Given the description of an element on the screen output the (x, y) to click on. 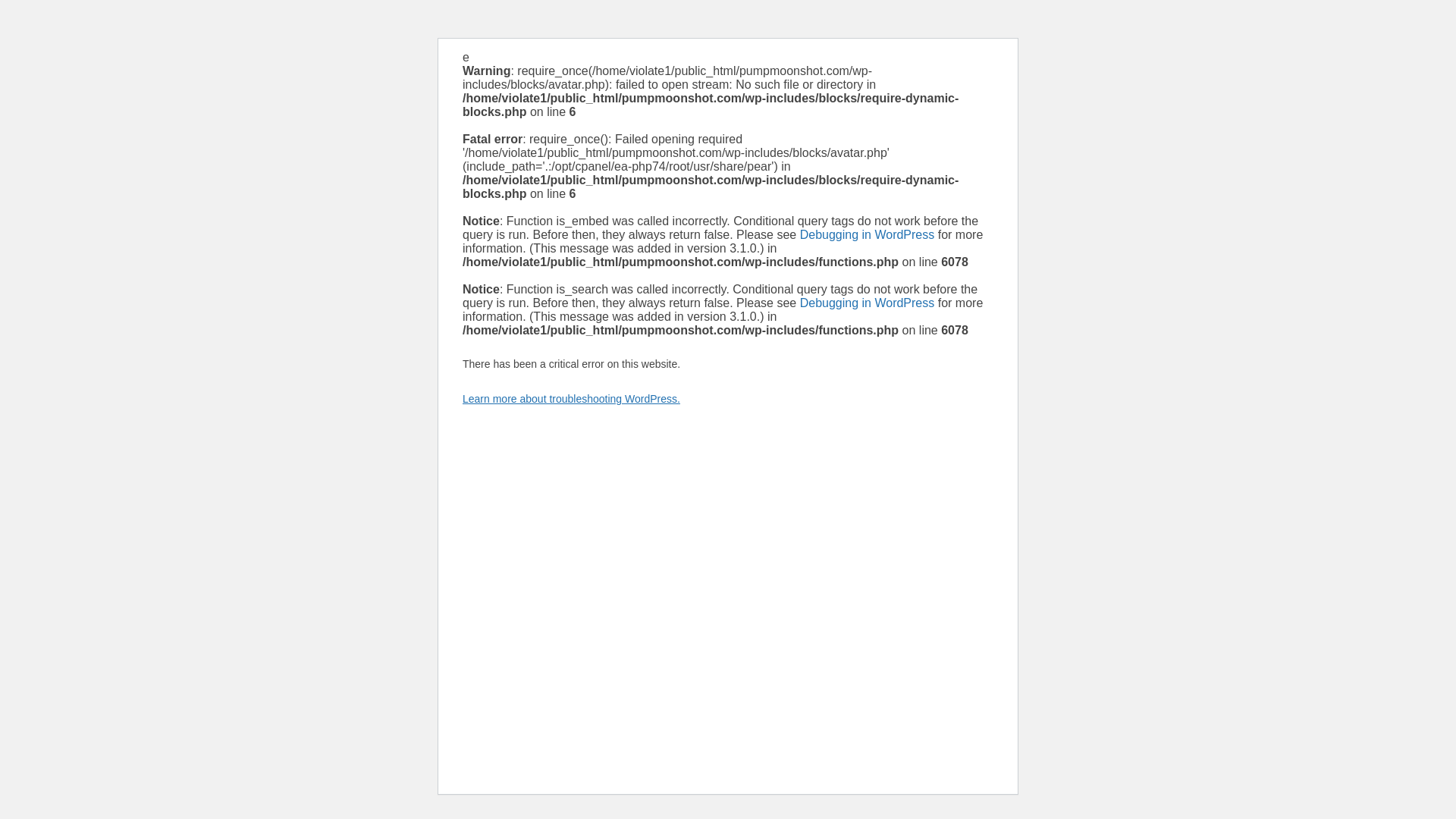
Debugging in WordPress (866, 234)
Learn more about troubleshooting WordPress. (571, 398)
Debugging in WordPress (866, 302)
